Given the description of an element on the screen output the (x, y) to click on. 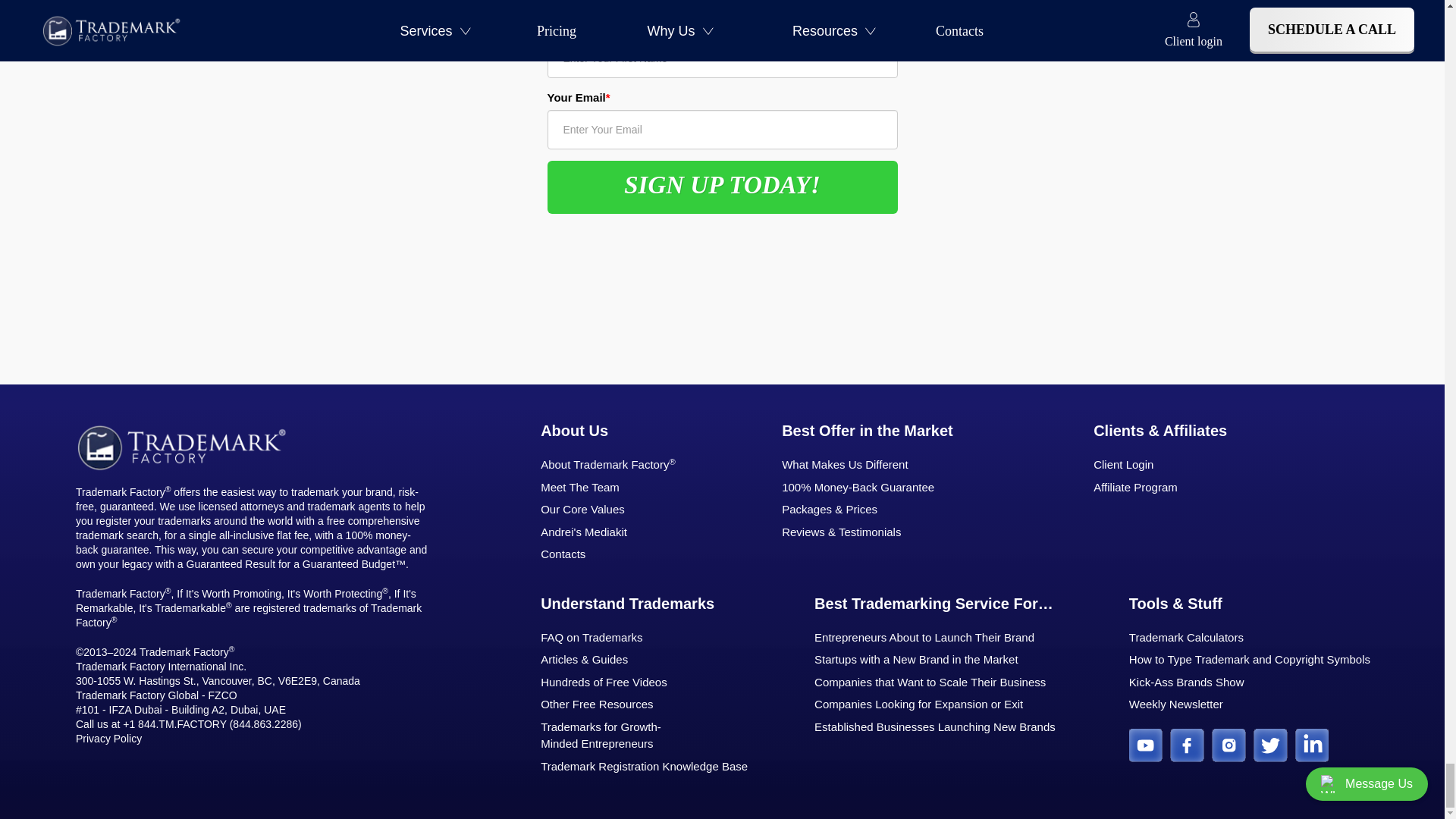
Contacts (619, 554)
Meet The Team (619, 487)
SIGN UP TODAY! (722, 186)
Privacy Policy (108, 738)
Andrei's Mediakit (619, 532)
Client Login (1160, 465)
What Makes Us Different (900, 465)
Our Core Values (619, 509)
